Given the description of an element on the screen output the (x, y) to click on. 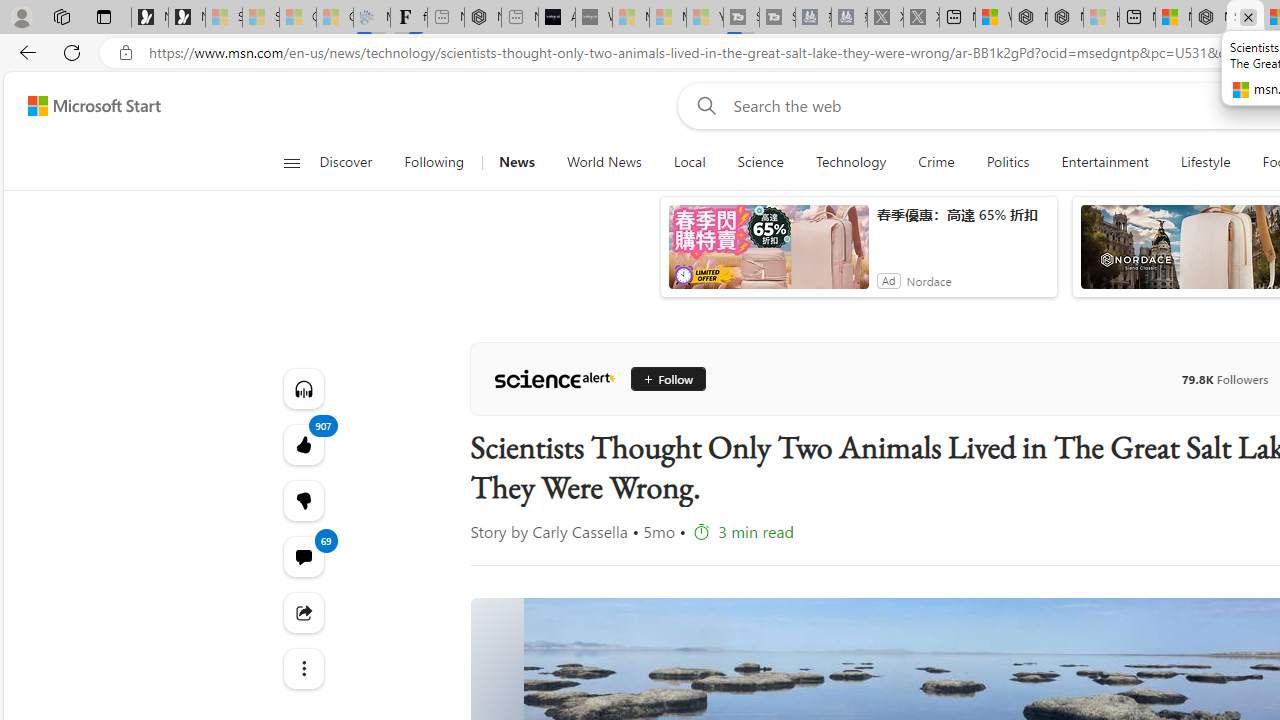
See more (302, 668)
Microsoft Start - Sleeping (668, 17)
Workspaces (61, 16)
Newsletter Sign Up (186, 17)
View site information (125, 53)
Lifestyle (1205, 162)
Personal Profile (21, 16)
What's the best AI voice generator? - voice.ai - Sleeping (593, 17)
Science (760, 162)
See more (302, 668)
Dislike (302, 500)
Listen to this article (302, 388)
AI Voice Changer for PC and Mac - Voice.ai (556, 17)
Entertainment (1105, 162)
